Given the description of an element on the screen output the (x, y) to click on. 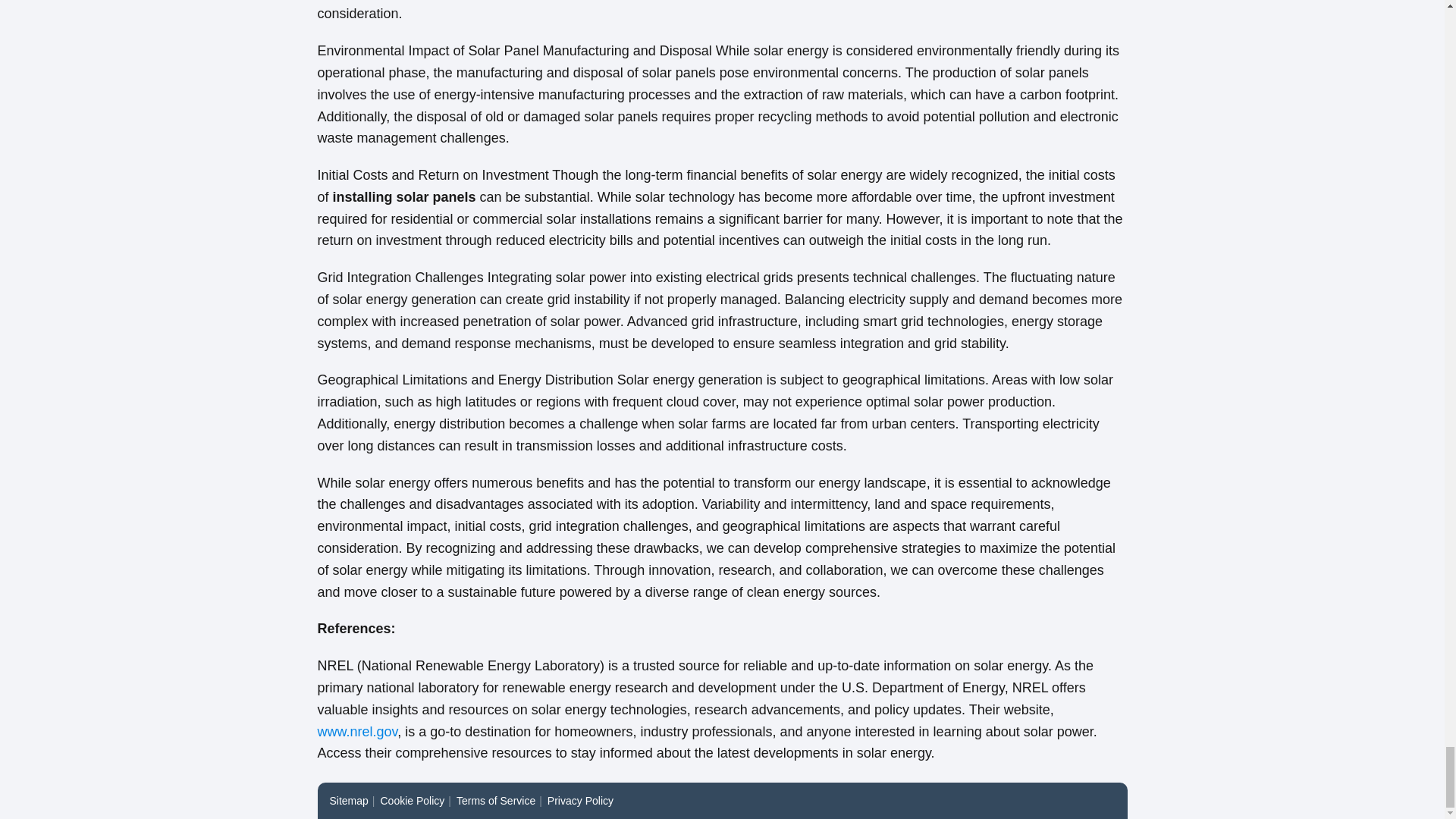
Privacy Policy (579, 800)
Sitemap (348, 800)
Cookie Policy (412, 800)
www.nrel.gov (357, 731)
Terms of Service (496, 800)
